Given the description of an element on the screen output the (x, y) to click on. 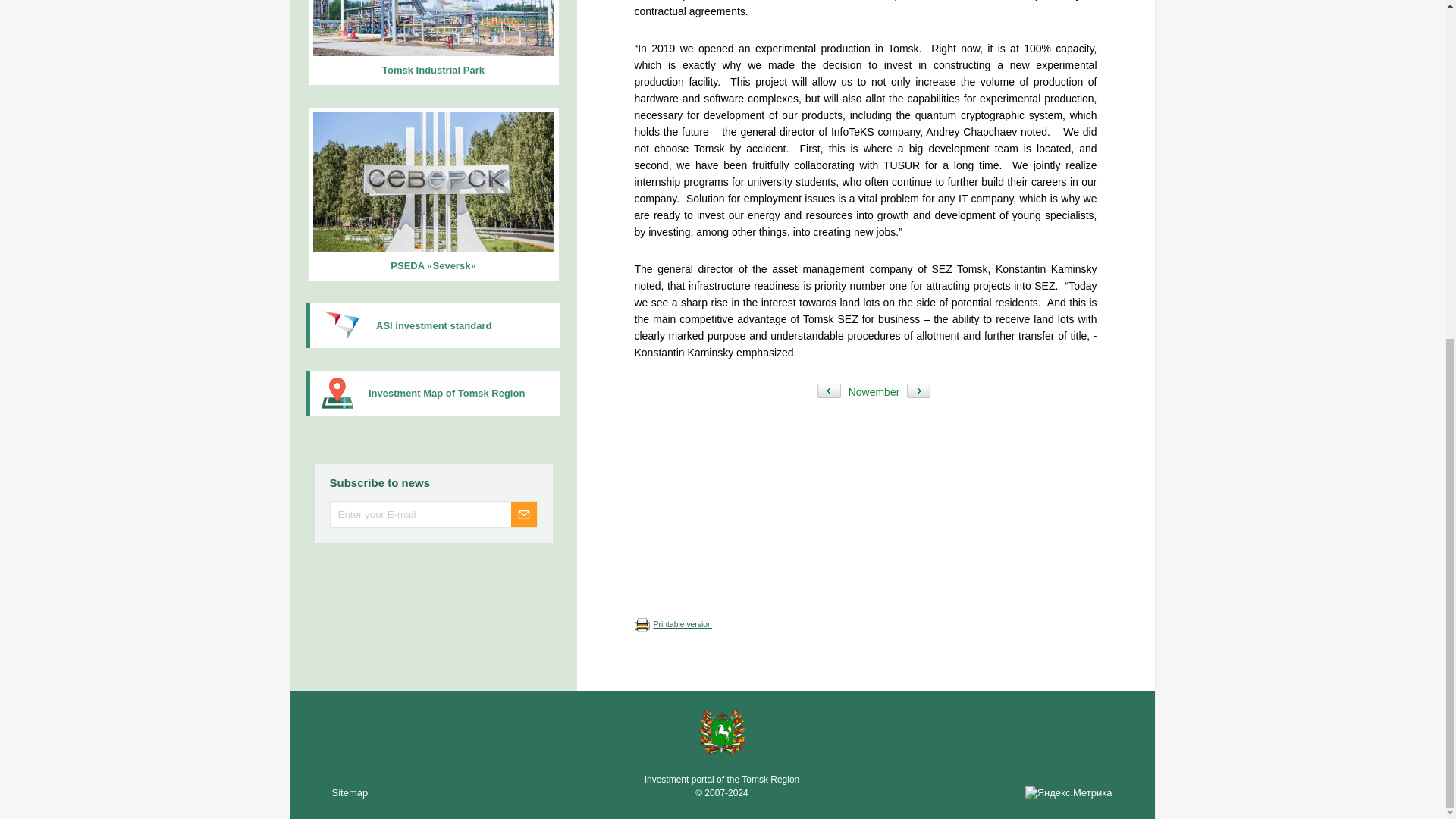
Investment Map of Tomsk Region (432, 393)
ASI investment standard (432, 325)
Tomsk Industrial Park (432, 42)
